Given the description of an element on the screen output the (x, y) to click on. 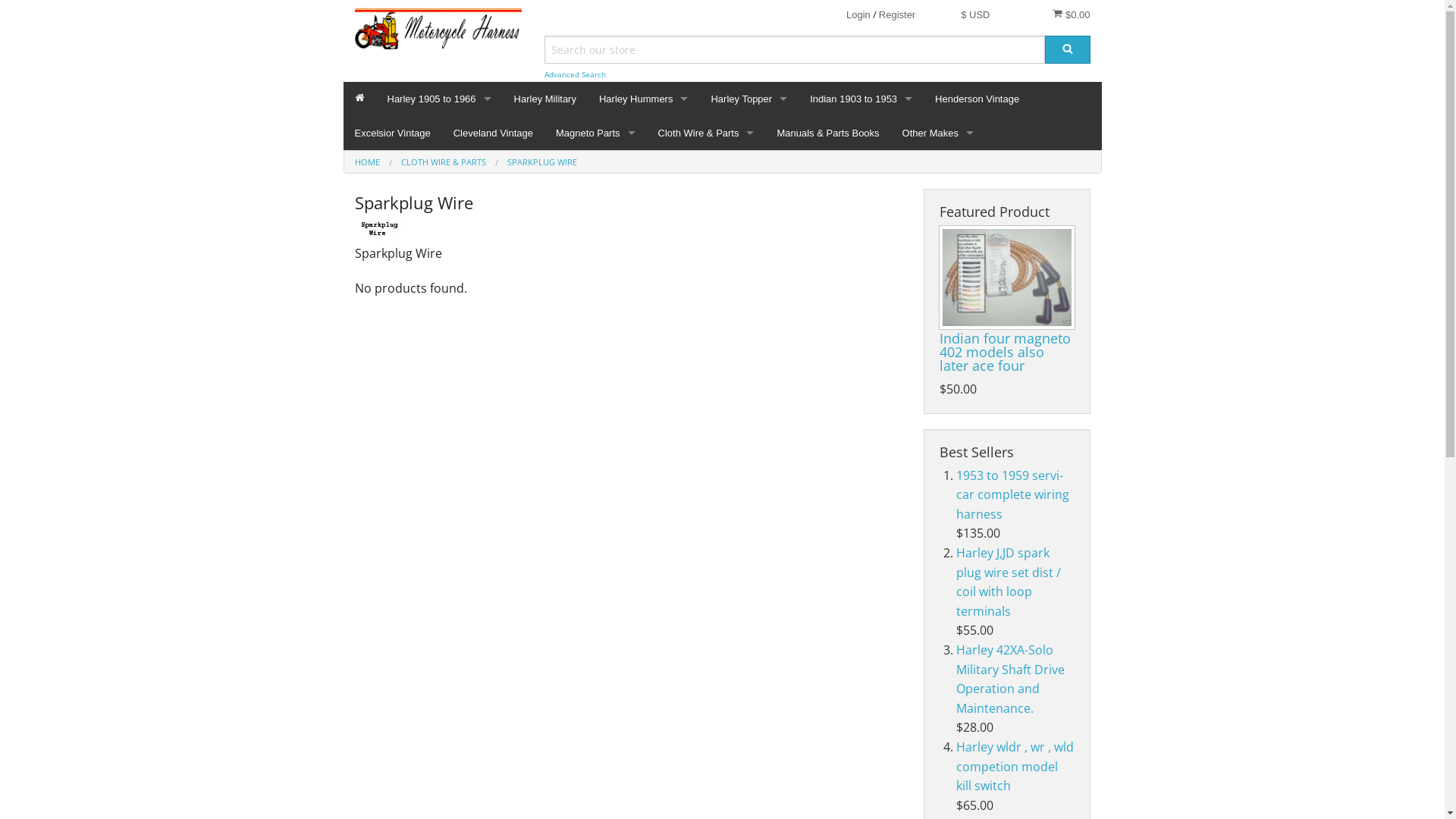
Excelsior Vintage Element type: text (391, 133)
Harley Military Element type: text (544, 98)
Harley Topper Element type: text (748, 98)
Dispatch Tow Element type: text (860, 322)
Sheet Metal. Element type: text (643, 186)
Indian four magneto 402 models also later ace four Element type: text (1004, 351)
Harley Electrical Element type: text (439, 220)
$0.00 Element type: text (1070, 14)
Indian Military Element type: text (860, 356)
Asphalt Shielding Element type: text (705, 220)
Indian 1903 to 1953 Element type: text (860, 98)
Harley Sparkplug Wires Element type: text (439, 186)
Cloth Wire & Parts Element type: text (705, 133)
Register Element type: text (896, 14)
HOME Element type: text (366, 161)
Bosch Magneto Parts Element type: text (595, 220)
Other Makes Element type: text (938, 133)
Manuals Element type: text (748, 288)
Login Element type: text (858, 14)
Hardware. Element type: text (643, 151)
Gaskets and Seals Element type: text (748, 151)
Cleveland Vintage Element type: text (493, 133)
Conduit Element type: text (705, 254)
Generator / Magneto Parts. Element type: text (643, 220)
Henderson Vintage Element type: text (976, 98)
Splitdorf Magneto Parts Element type: text (595, 186)
Topper Scooter Cables Element type: text (748, 254)
Magneto Nuts Element type: text (705, 288)
BSA Element type: text (938, 220)
Indian Wiring Price Guide Element type: text (860, 151)
Cushman Element type: text (938, 186)
Hummer Carburetor Parts. Element type: text (643, 288)
Harley wldr , wr , wld competion model kill switch Element type: text (1014, 765)
Search Element type: text (1067, 49)
Advanced Search Element type: text (574, 74)
Harley Parts Element type: text (439, 254)
Magneto Parts Element type: text (595, 133)
A AU Carburetor Parts. Element type: text (748, 220)
$ USD Element type: text (974, 14)
Indian Sparkplug Wires Element type: text (860, 220)
Switches Element type: text (643, 322)
SPARKPLUG WIRE Element type: text (541, 161)
1953 to 1959 servi-car complete wiring harness Element type: text (1012, 494)
Indian four magneto 402 models also later ace four Element type: hover (1005, 277)
Harley 1905 to 1966 Element type: text (439, 98)
Harley Terminal Plates Element type: text (439, 151)
Home Element type: hover (358, 98)
Sparkplug Wire Element type: text (705, 322)
Metal Parts Element type: text (748, 322)
Harley Hummers Element type: text (643, 98)
Bearings Seals Gaskets. Element type: text (643, 254)
Manuals & Parts Books Element type: text (827, 133)
CLOTH WIRE & PARTS Element type: text (442, 161)
Indian Electrical Element type: text (860, 186)
Indian Vertical Models 1949 to Warrior TT Element type: text (860, 288)
Armored Cable Element type: text (705, 186)
Indian Parts Element type: text (860, 254)
AH 119A 119B Carburetor Parts. Element type: text (748, 186)
